Given the description of an element on the screen output the (x, y) to click on. 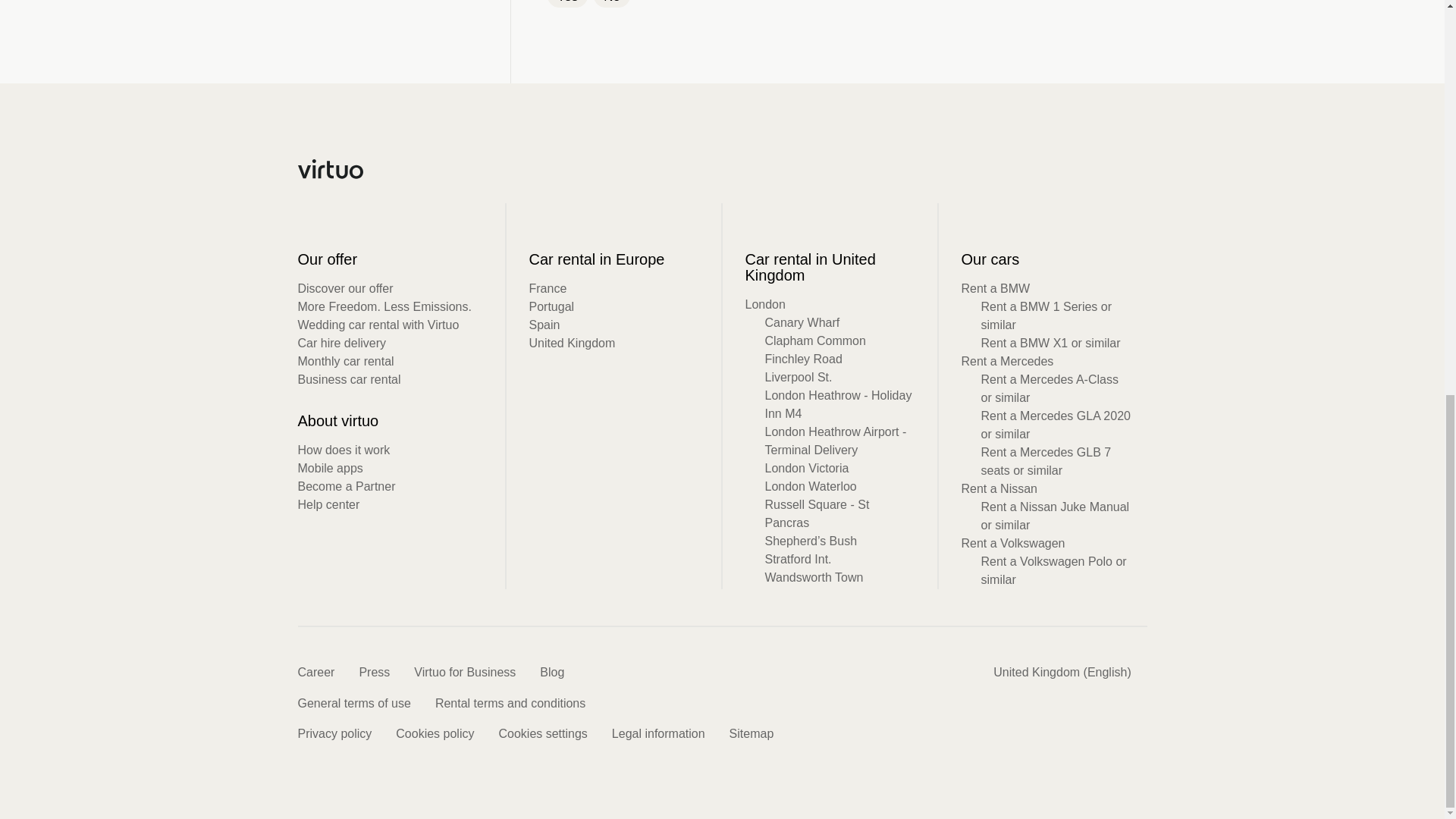
No (612, 3)
Monthly car rental (345, 360)
Yes (567, 3)
United Kingdom (572, 342)
How does it work (343, 449)
More Freedom. Less Emissions. (383, 306)
Portugal (552, 306)
Help center (328, 504)
Business car rental (348, 379)
Become a Partner (345, 486)
Discover our offer (345, 287)
Mobile apps (329, 468)
France (548, 287)
Spain (544, 324)
Car hire delivery (341, 342)
